Given the description of an element on the screen output the (x, y) to click on. 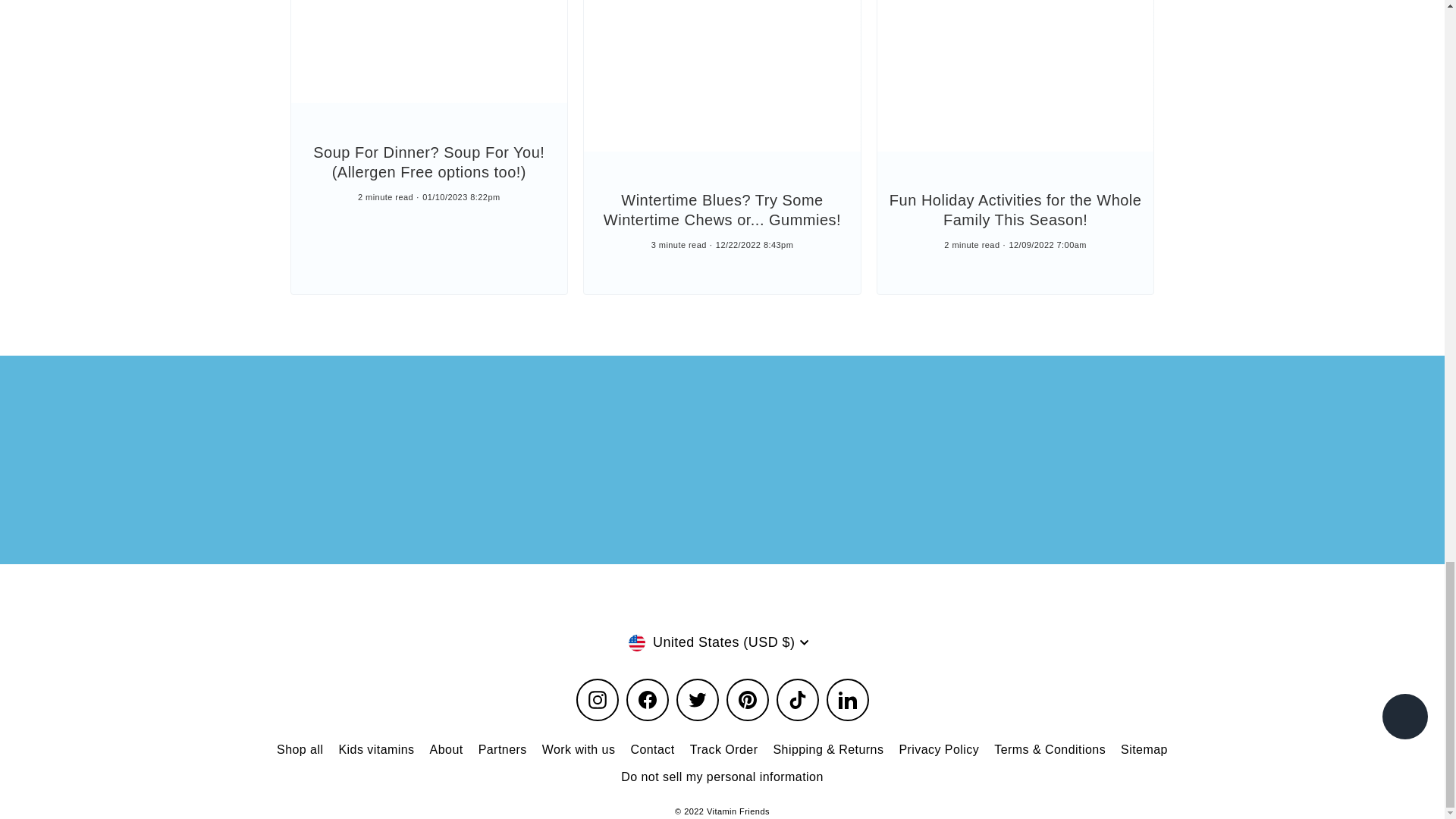
Vitamin Friends on Facebook (647, 699)
Vitamin Friends on Twitter (698, 699)
Vitamin Friends on TikTok (797, 699)
Vitamin Friends on LinkedIn (848, 699)
Vitamin Friends on Pinterest (747, 699)
Vitamin Friends on Instagram (597, 699)
